Given the description of an element on the screen output the (x, y) to click on. 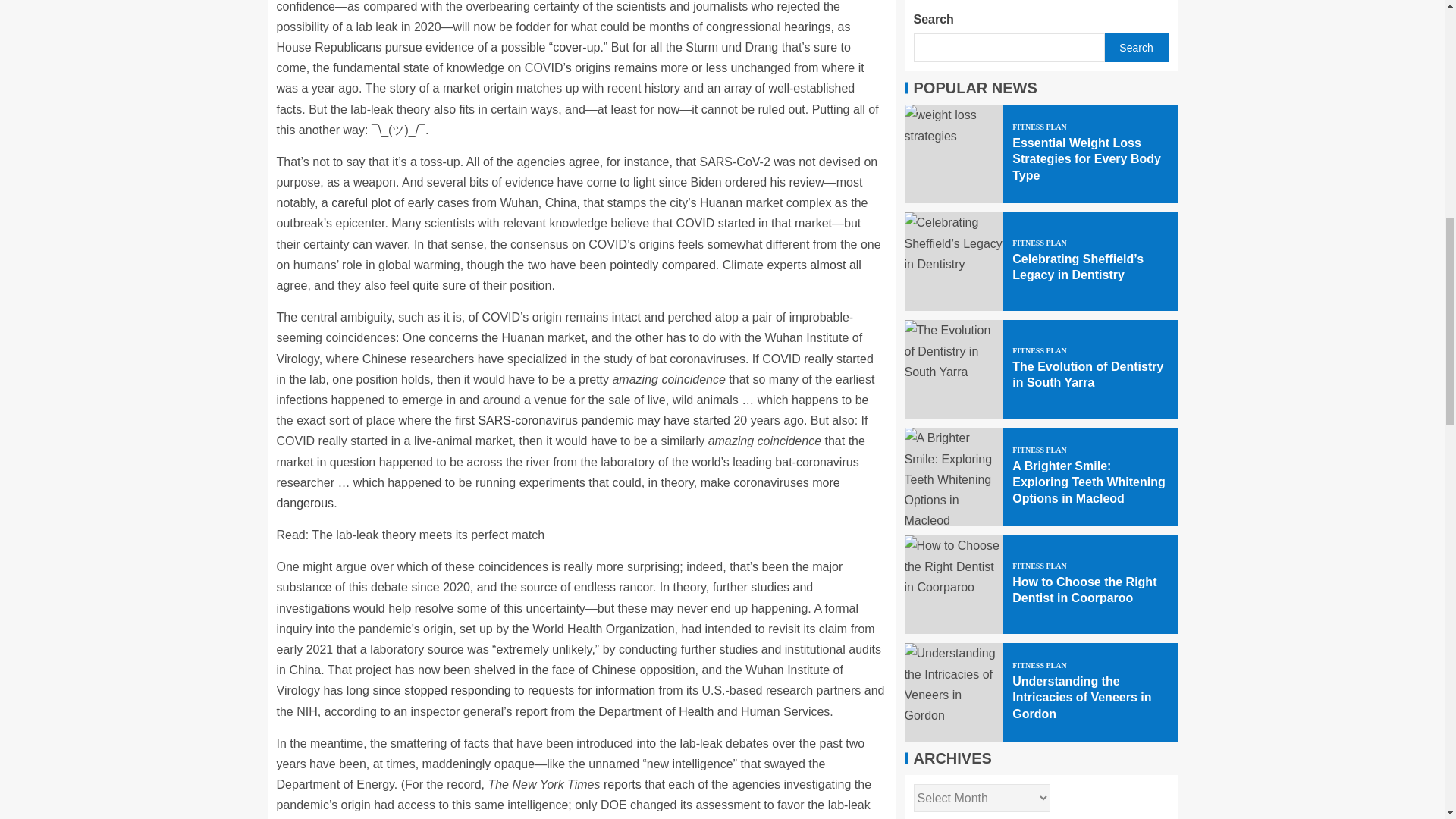
first SARS-coronavirus pandemic may have started (592, 420)
quite sure (438, 285)
stopped responding to requests for information (529, 689)
cover-up (576, 47)
extremely unlikely (543, 649)
hearings (806, 26)
shelved (494, 669)
careful plot (360, 202)
How to Choose the Right Dentist in Coorparoo (953, 72)
